Given the description of an element on the screen output the (x, y) to click on. 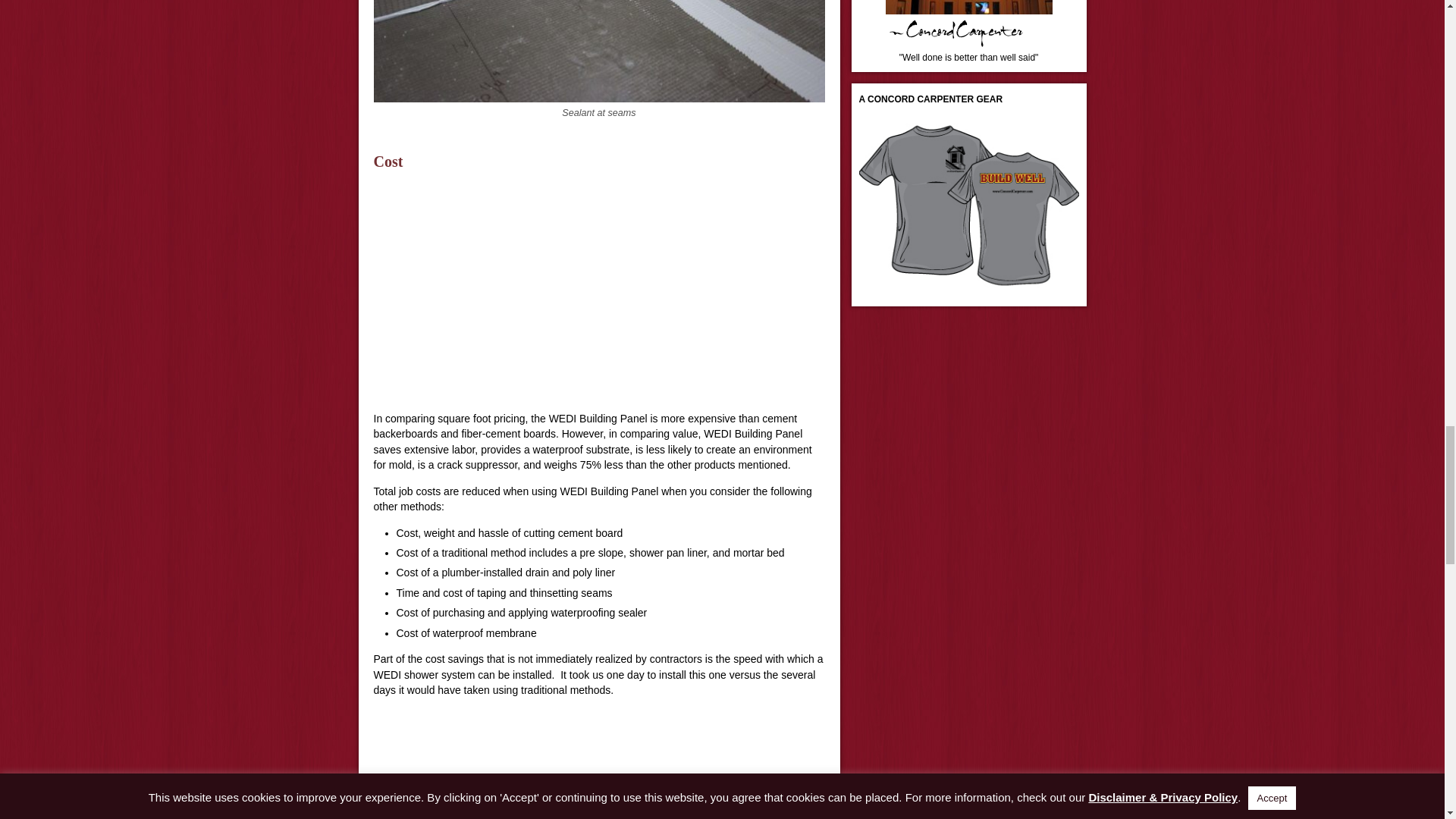
Advertisement (598, 294)
Advertisement (598, 763)
